Given the description of an element on the screen output the (x, y) to click on. 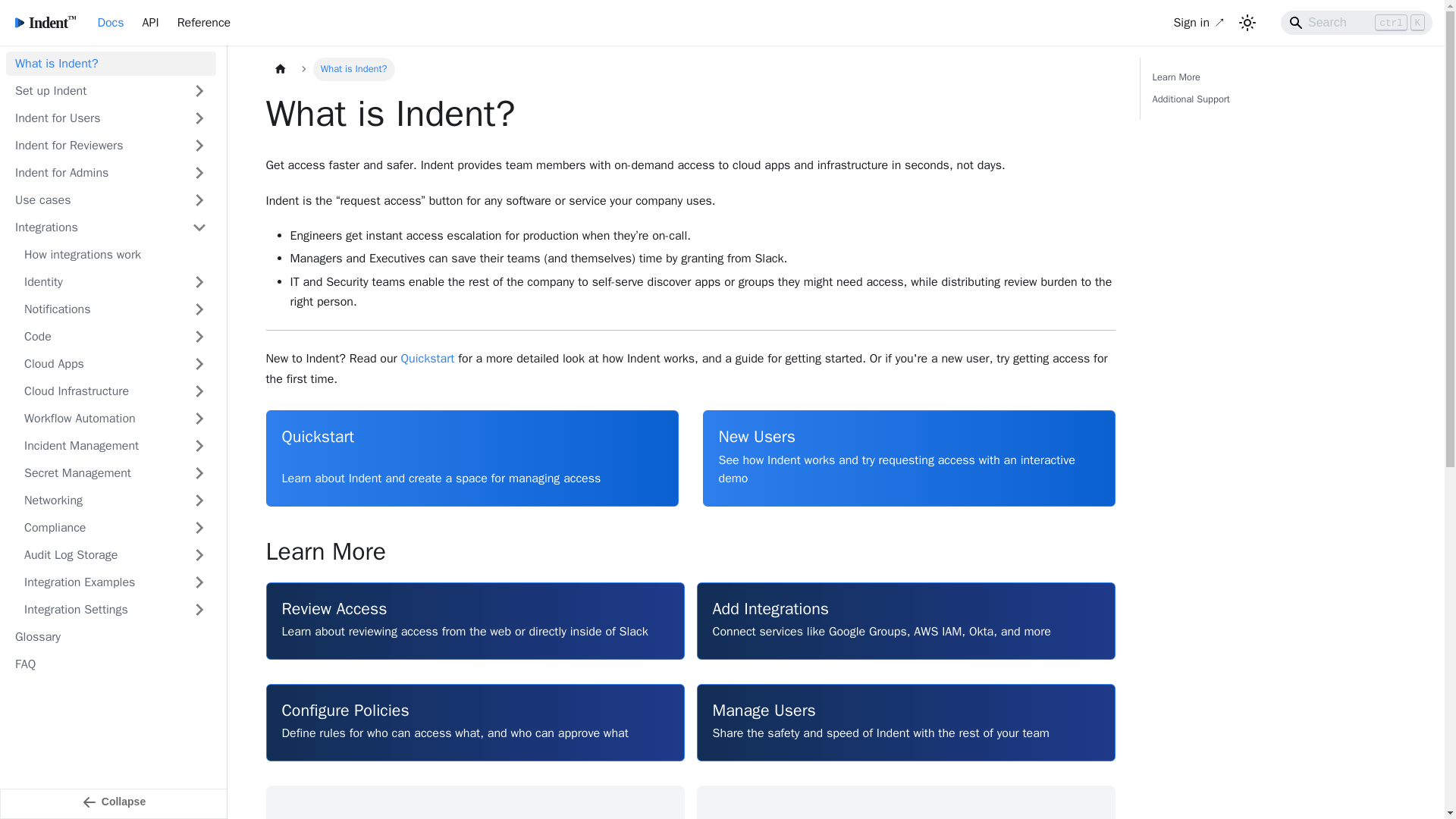
Compliance (114, 527)
Indent for Admins (110, 172)
Set up Indent (110, 90)
Use cases (94, 200)
Integrations (94, 227)
Audit Log Storage (114, 554)
Collapse sidebar (113, 803)
Identity (114, 282)
Indent (43, 23)
